Given the description of an element on the screen output the (x, y) to click on. 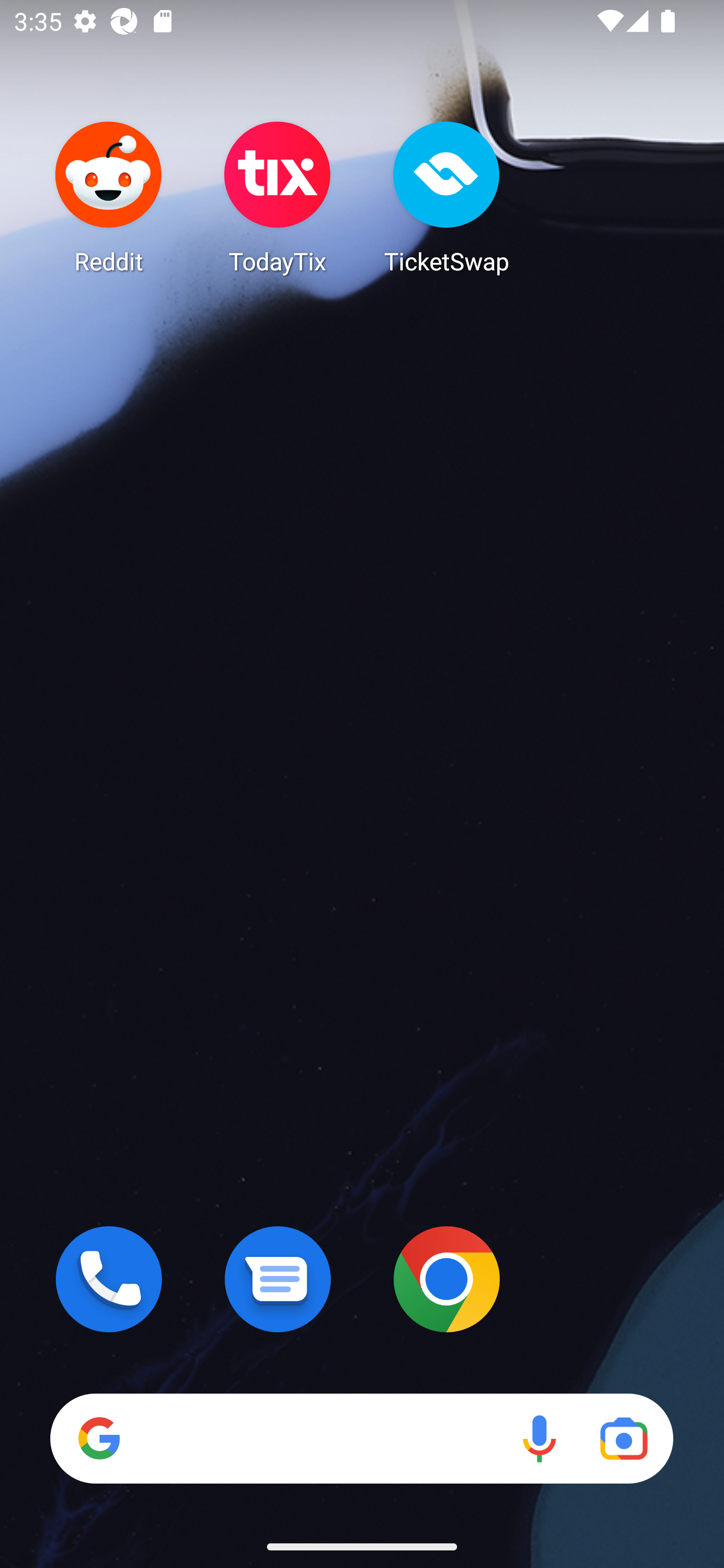
Reddit (108, 196)
TodayTix (277, 196)
TicketSwap (445, 196)
Phone (108, 1279)
Messages (277, 1279)
Chrome (446, 1279)
Voice search (539, 1438)
Google Lens (623, 1438)
